Given the description of an element on the screen output the (x, y) to click on. 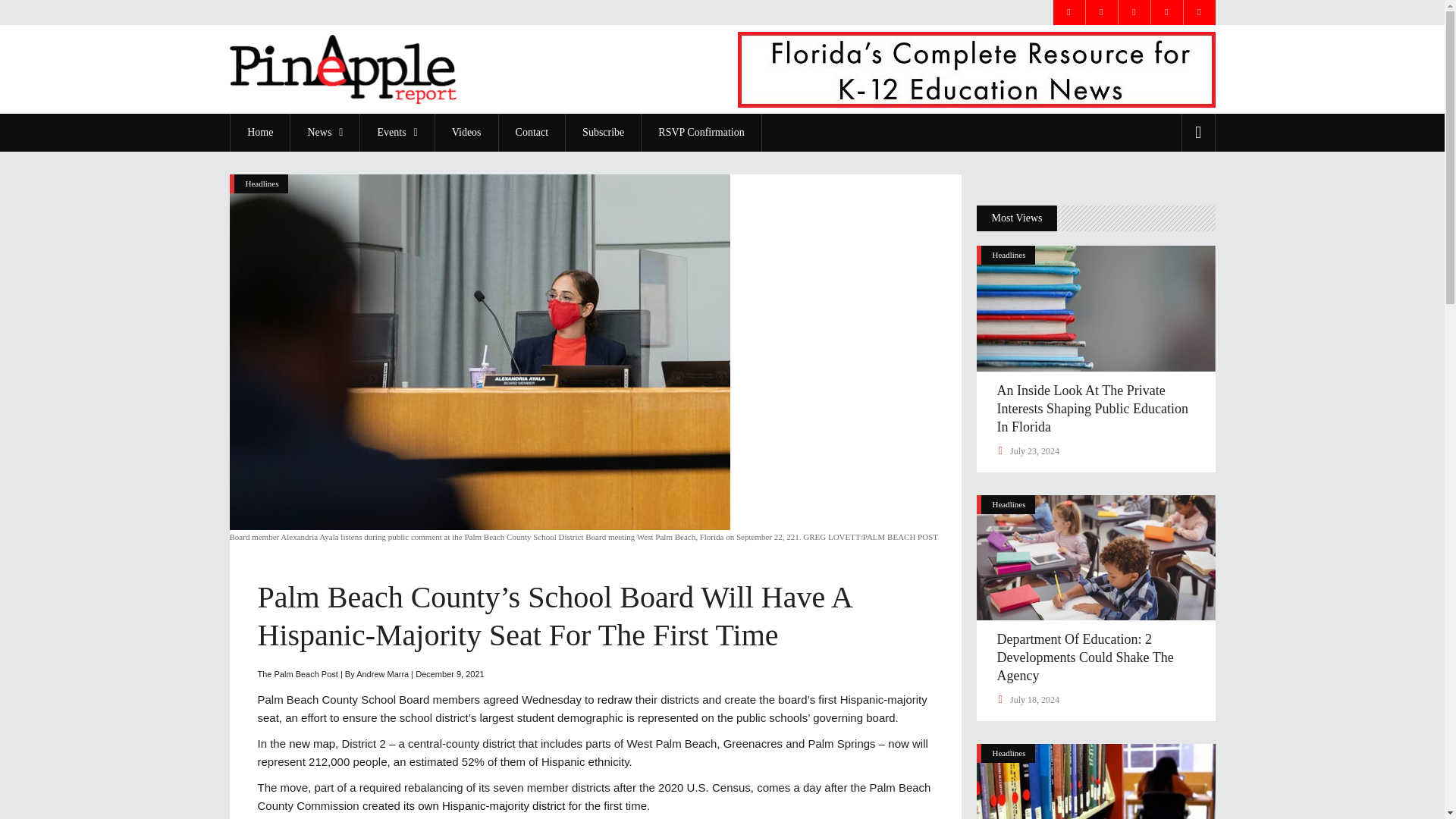
Subscribe (602, 132)
Home (259, 132)
Videos (465, 132)
RSVP Confirmation (700, 132)
Contact (531, 132)
News (324, 132)
Events (396, 132)
